Given the description of an element on the screen output the (x, y) to click on. 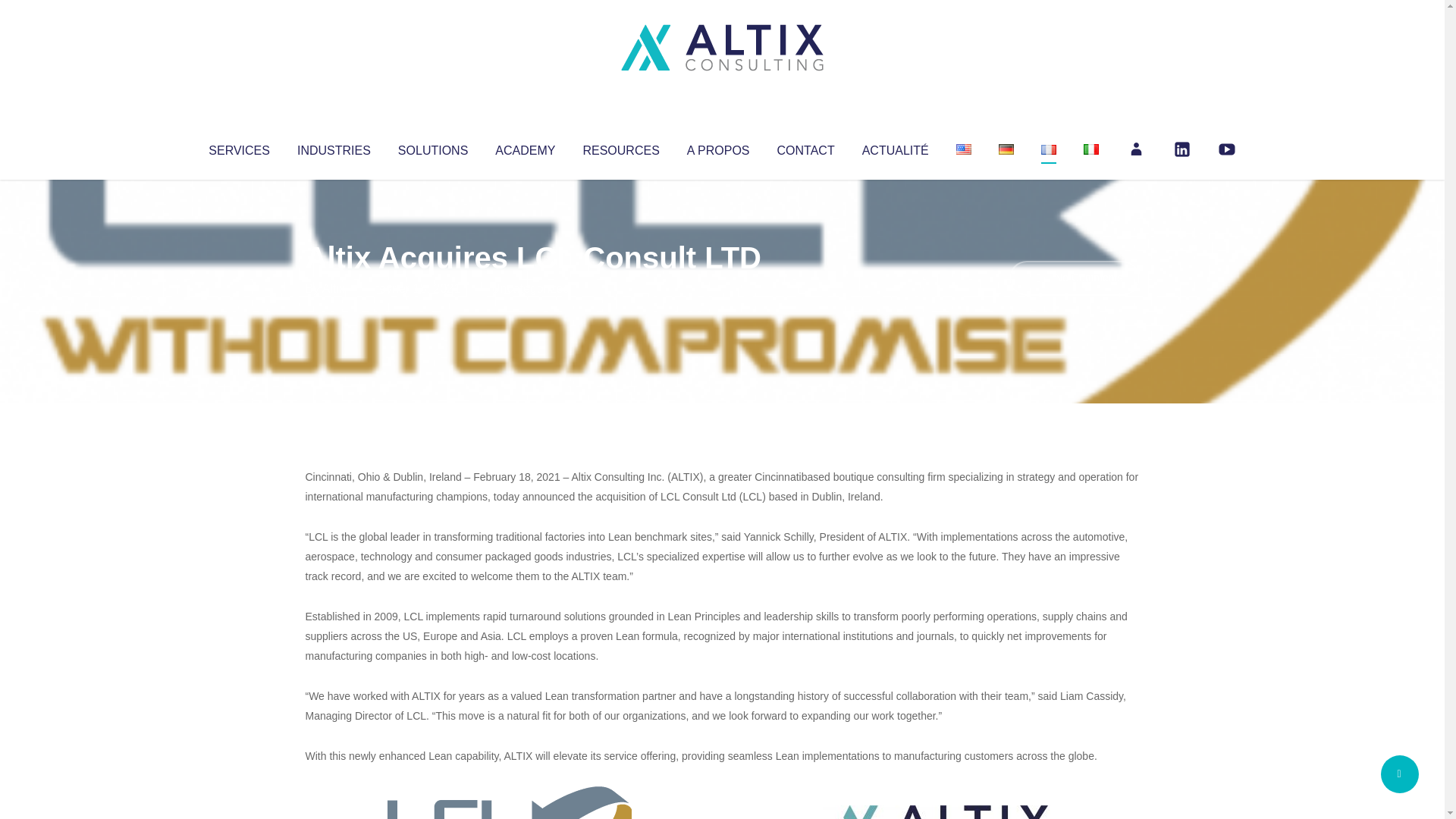
No Comments (1073, 278)
Uncategorized (530, 287)
SERVICES (238, 146)
INDUSTRIES (334, 146)
A PROPOS (718, 146)
RESOURCES (620, 146)
Articles par Altix (333, 287)
Altix (333, 287)
ACADEMY (524, 146)
SOLUTIONS (432, 146)
